Given the description of an element on the screen output the (x, y) to click on. 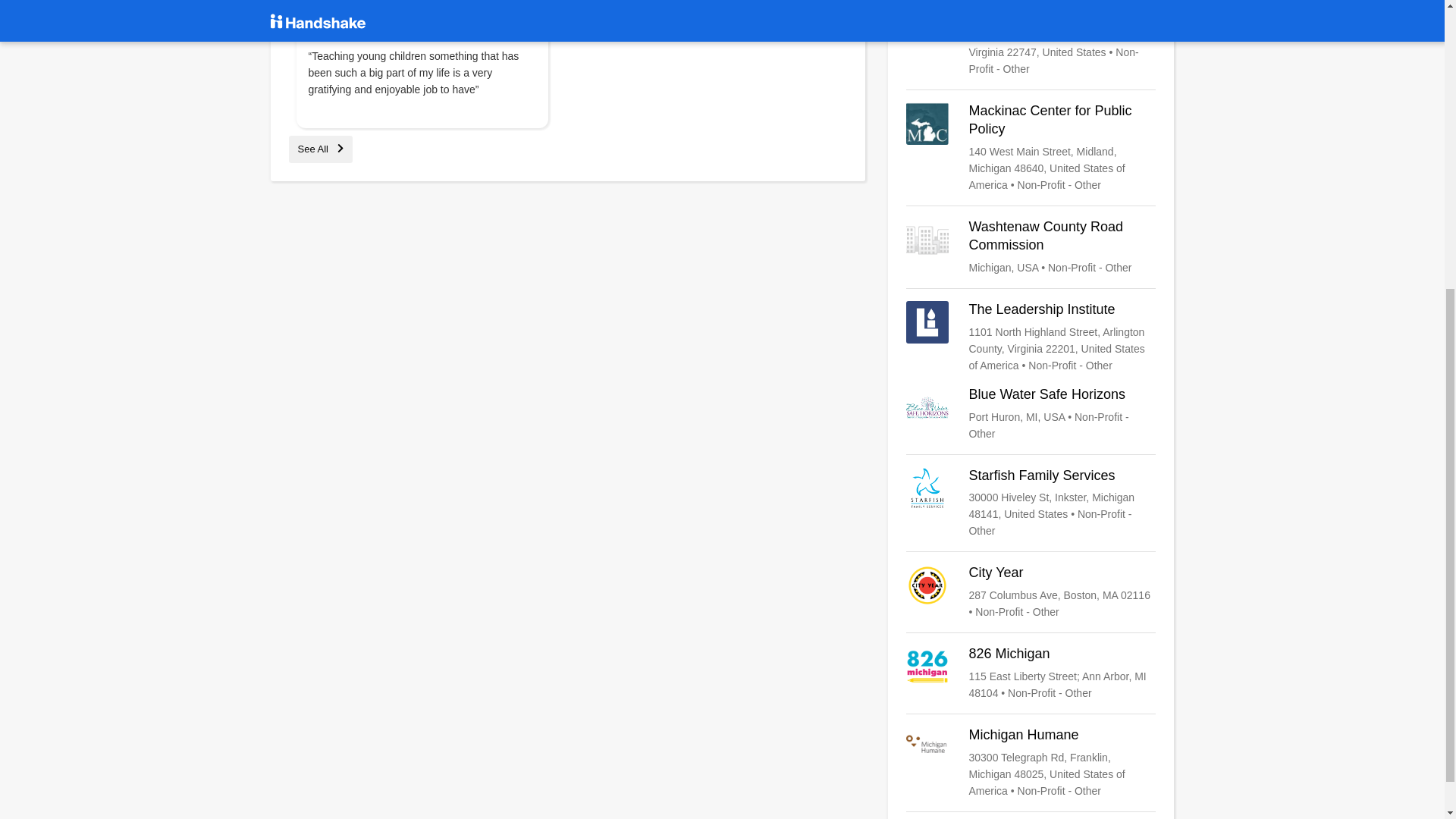
See All (320, 148)
City Year (1030, 591)
826 Michigan (1030, 673)
Mackinac Center for Public Policy (1030, 147)
American Conservative Union Foundation (1030, 38)
The Leadership Institute (1030, 337)
Washtenaw County Road Commission (1030, 247)
Blue Water Safe Horizons (1030, 413)
Starfish Family Services (1030, 502)
Michigan Humane (1030, 762)
